Given the description of an element on the screen output the (x, y) to click on. 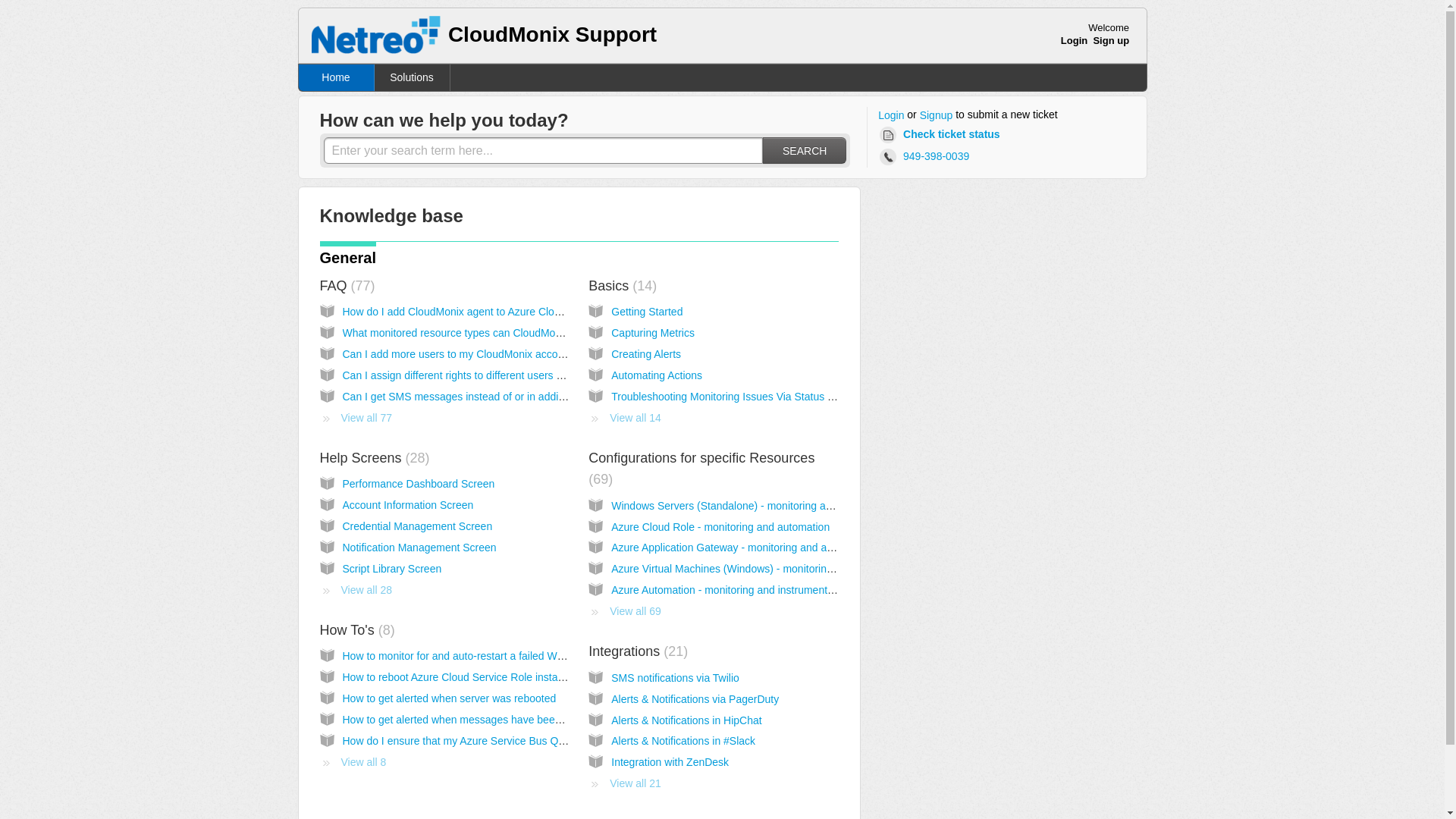
Can I add more users to my CloudMonix account? (460, 354)
Performance Dashboard Screen (418, 483)
FAQ (347, 285)
FAQ 77 (347, 285)
Configurations for specific Resources (700, 468)
Creating Alerts (646, 354)
View all 14 (624, 417)
949-398-0039 (926, 156)
Script Library Screen (392, 568)
Signup (936, 115)
Getting Started (646, 311)
Login (890, 115)
Check ticket status (941, 134)
